Given the description of an element on the screen output the (x, y) to click on. 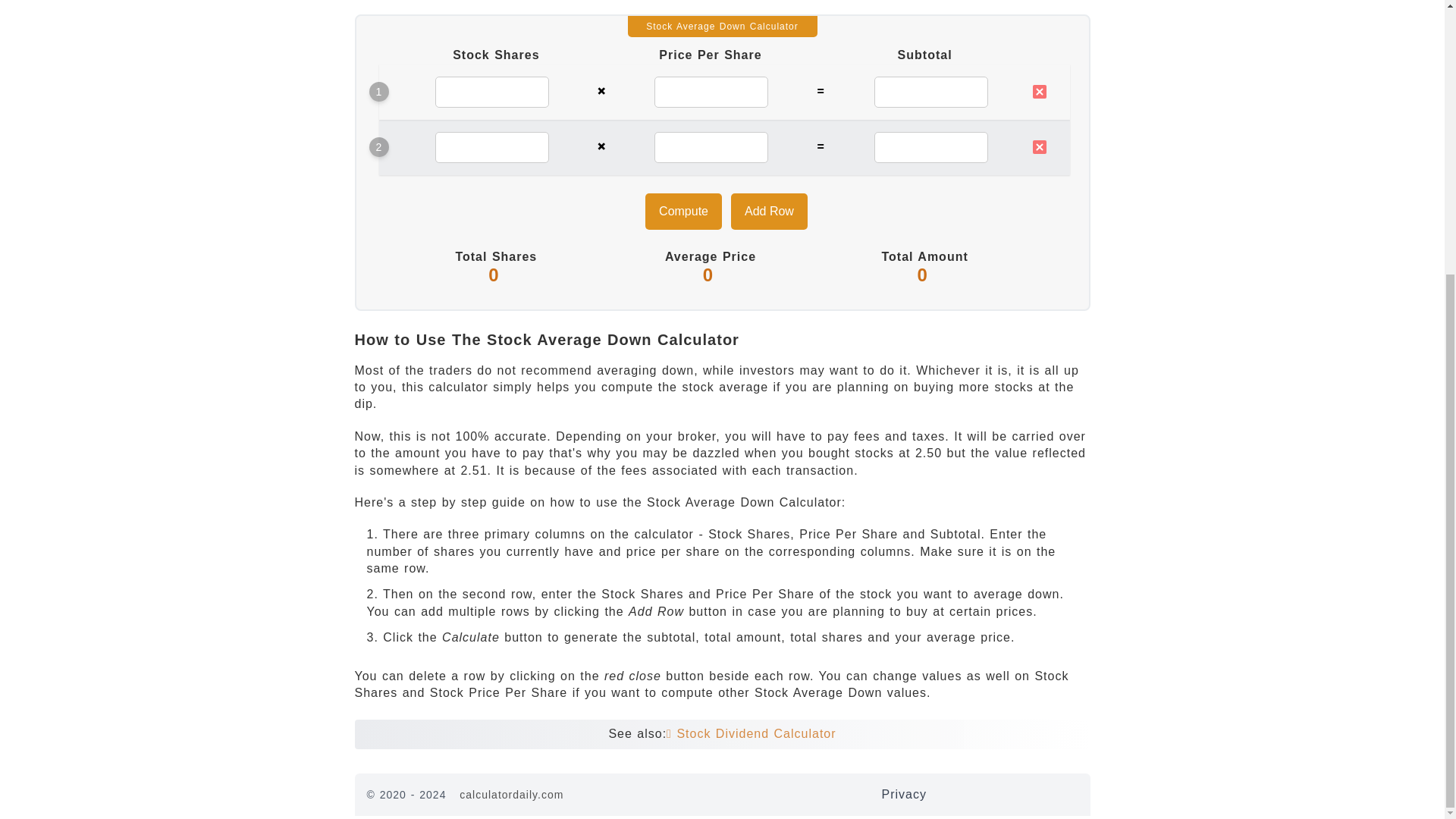
Privacy (903, 793)
Compute (683, 211)
Add Row (769, 211)
